Given the description of an element on the screen output the (x, y) to click on. 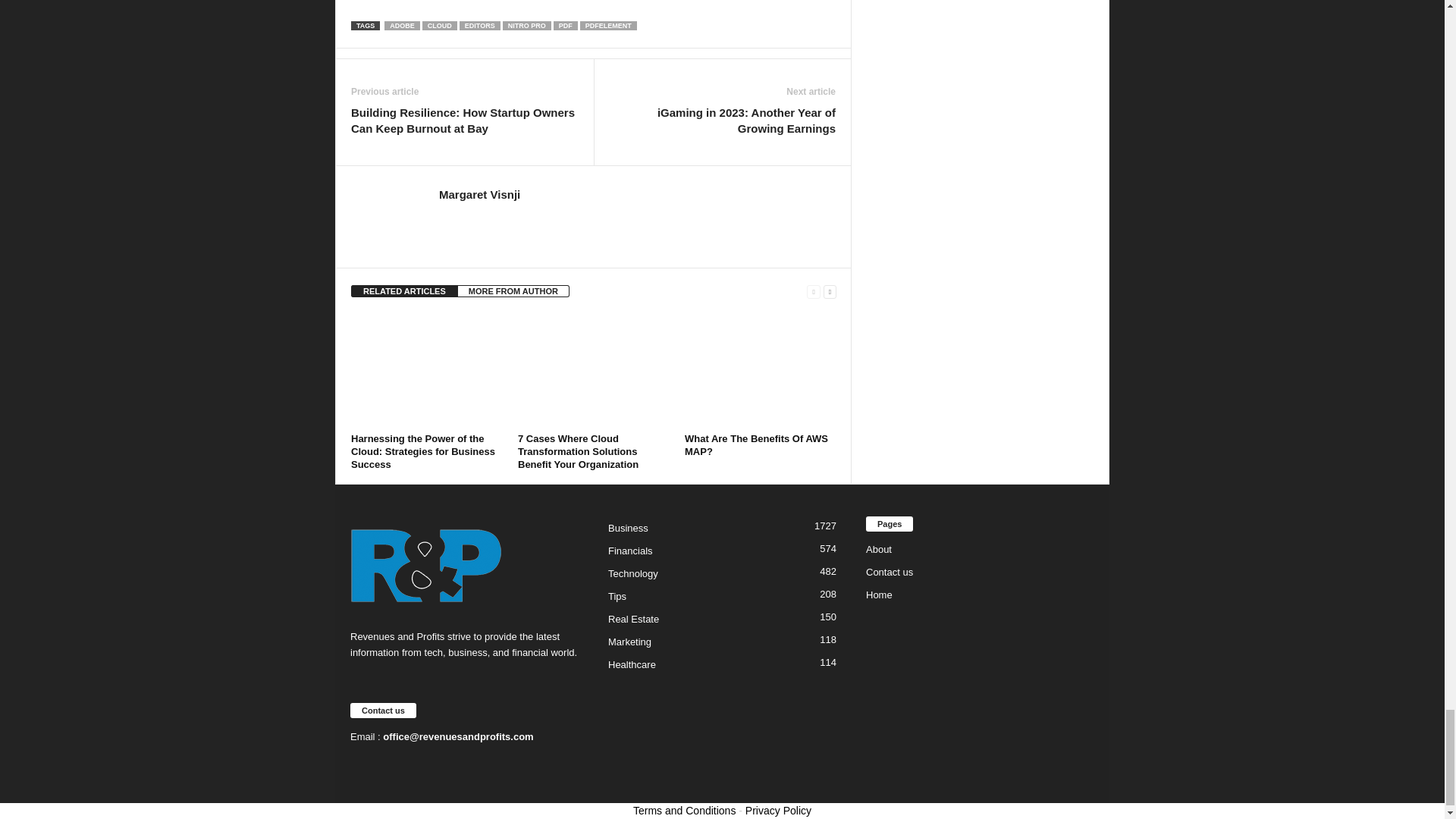
What Are The Benefits Of AWS MAP? (759, 370)
